Given the description of an element on the screen output the (x, y) to click on. 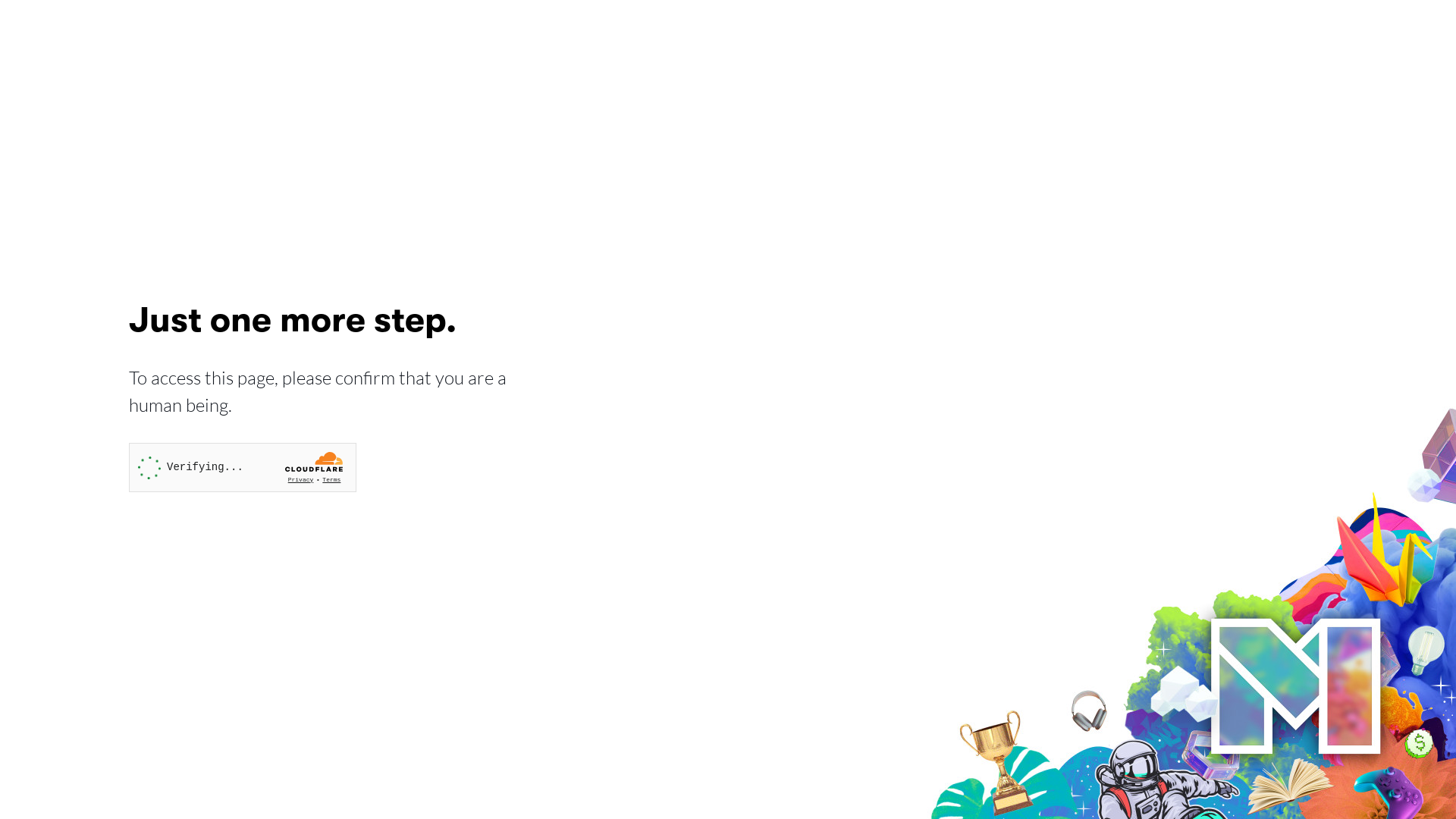
Widget containing a Cloudflare security challenge Element type: hover (242, 467)
